Given the description of an element on the screen output the (x, y) to click on. 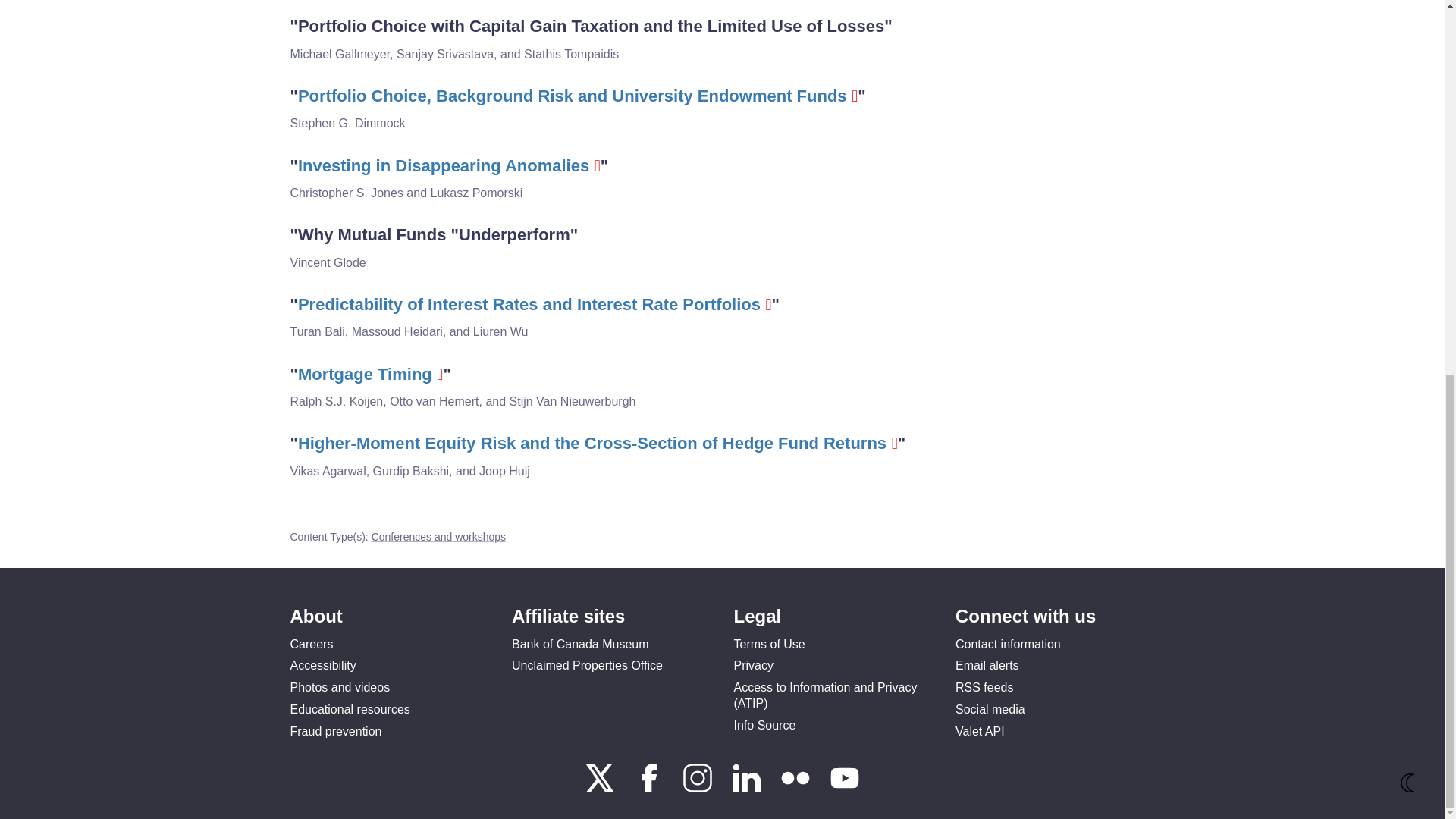
Connect with us on X (601, 788)
Connect with us on LinkedIn (748, 788)
Connect with us on Facebook (650, 788)
Connect with us on Instagram (699, 788)
